Given the description of an element on the screen output the (x, y) to click on. 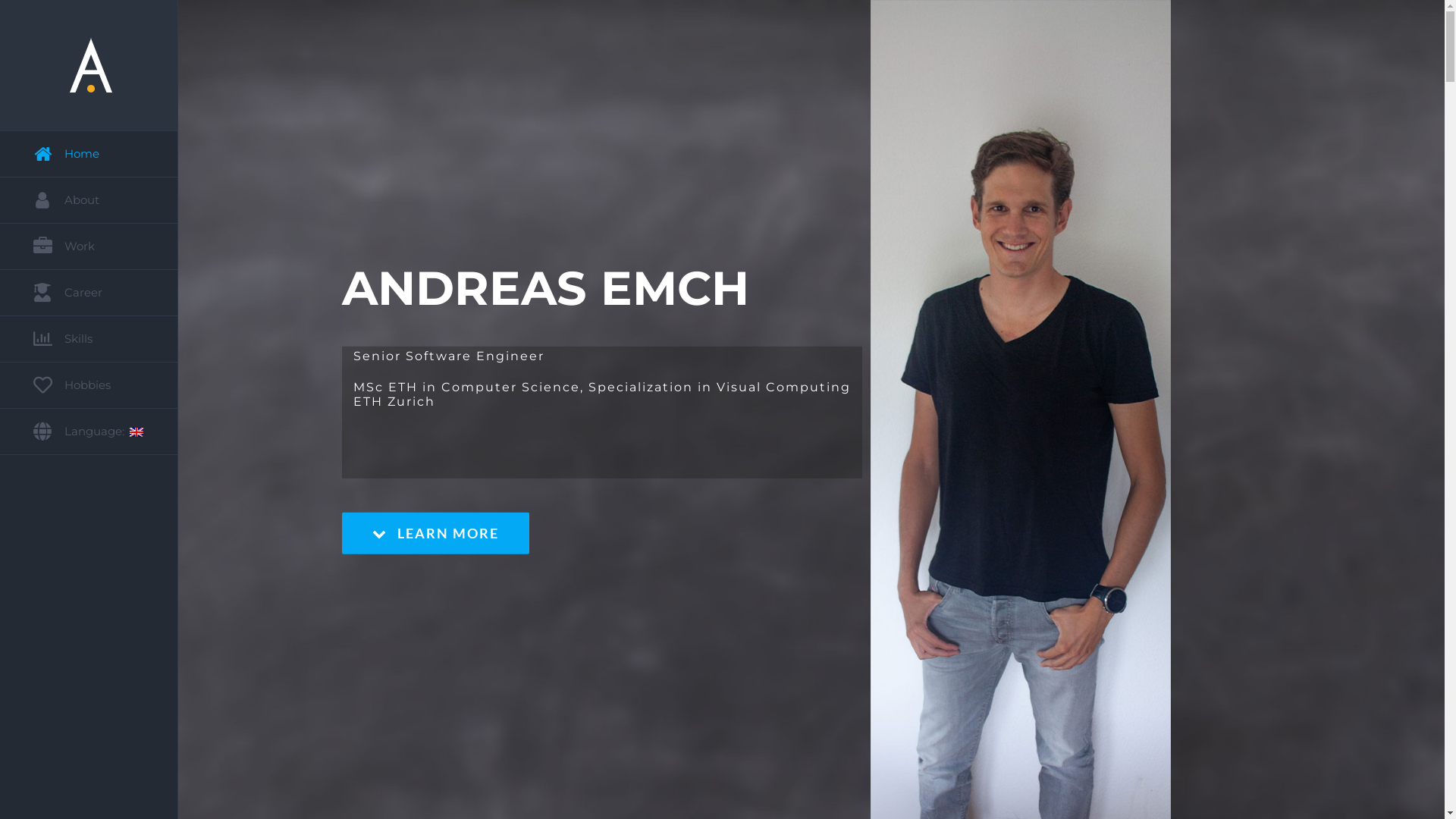
Work Element type: text (89, 246)
LEARN MORE Element type: text (435, 533)
Hobbies Element type: text (89, 385)
Home Element type: text (89, 153)
About Element type: text (89, 200)
Skills Element type: text (89, 339)
Language:  Element type: text (89, 431)
Career Element type: text (89, 292)
